Given the description of an element on the screen output the (x, y) to click on. 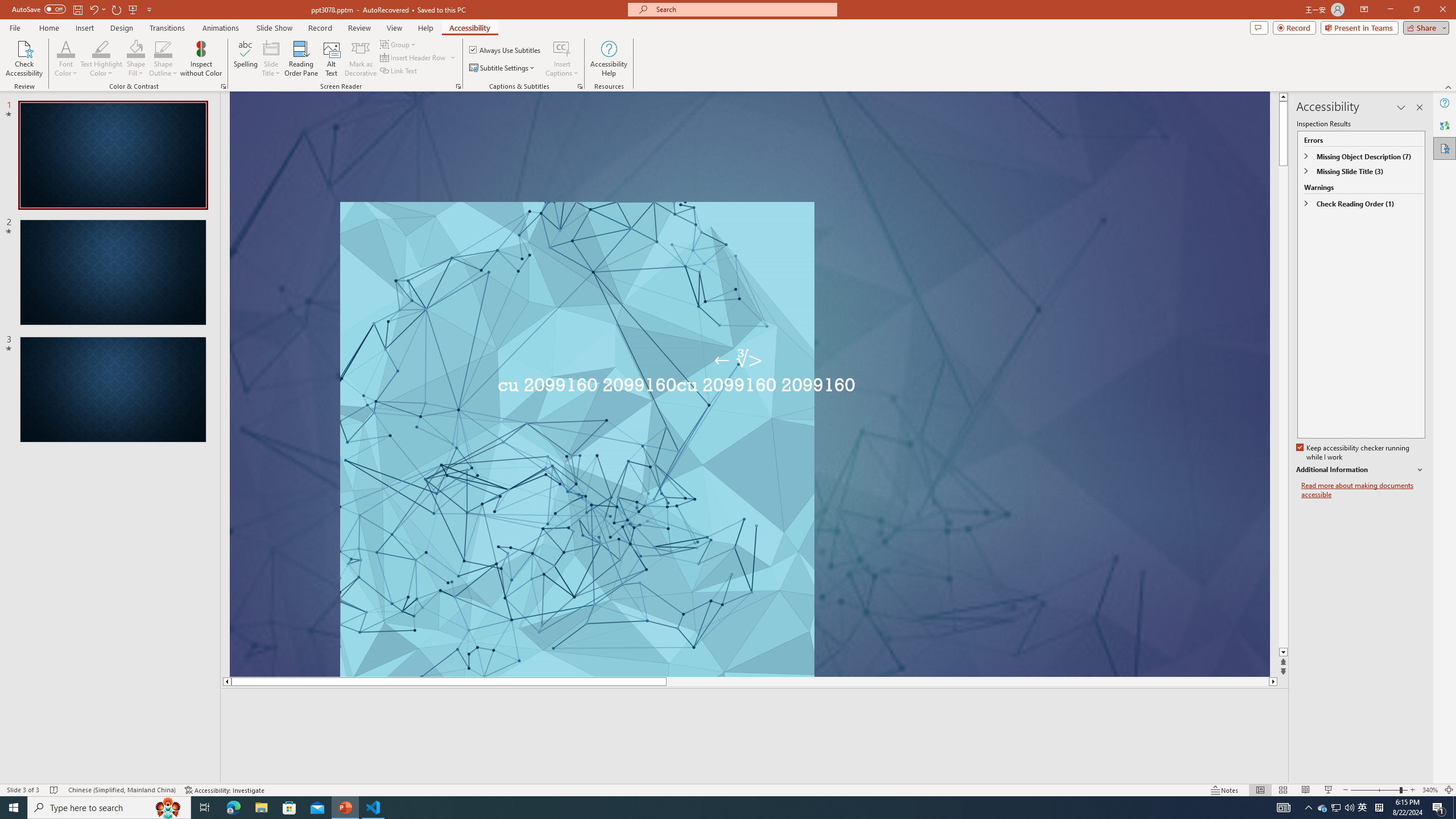
Link Text (399, 69)
Insert Captions (561, 48)
Insert Header Row (413, 56)
Spelling... (245, 58)
